Given the description of an element on the screen output the (x, y) to click on. 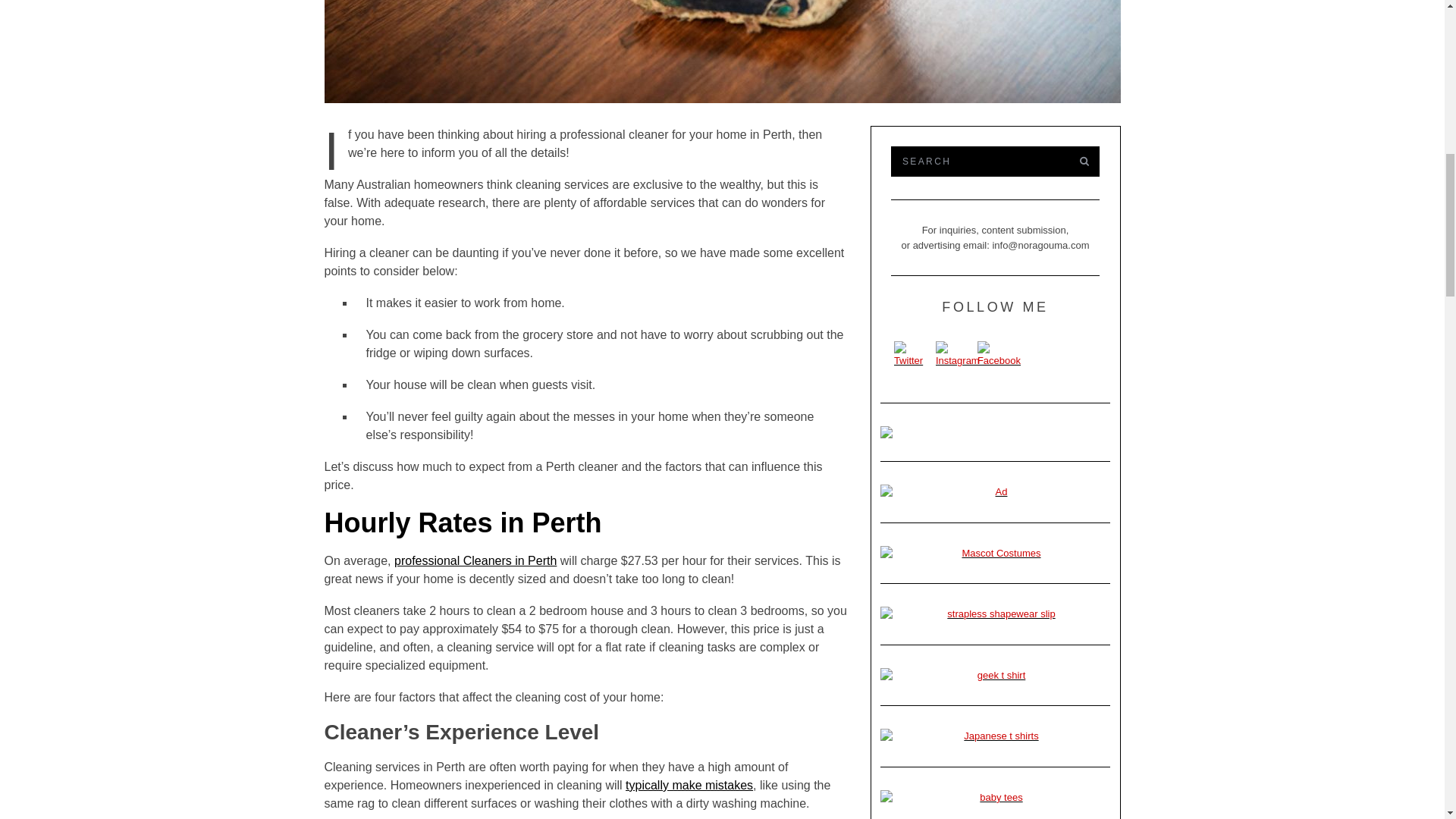
Instagram (957, 354)
baby tees (994, 797)
Search (976, 161)
Twitter (913, 354)
geek t shirt (994, 675)
Affordbable Mascot Costumes for Every Event - Buyamascot.com (994, 553)
Japanese t shirts (994, 735)
Facebook (998, 354)
